Given the description of an element on the screen output the (x, y) to click on. 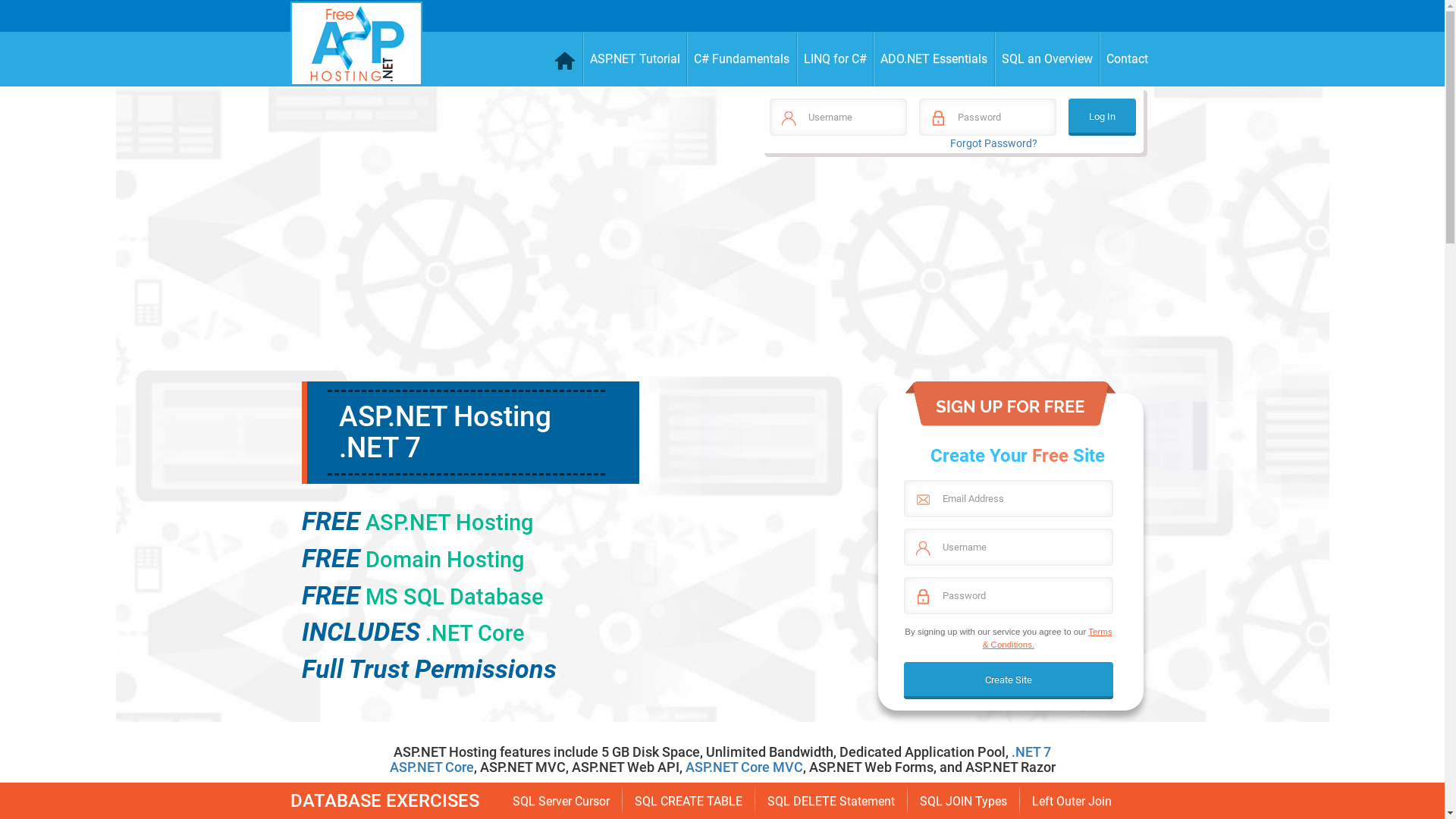
ASP.NET Tutorial Element type: text (634, 58)
SQL an Overview Element type: text (1047, 58)
Advertisement Element type: hover (950, 274)
Terms & Conditions. Element type: text (1047, 637)
ASP.NET Core Element type: text (431, 767)
Forgot Password? Element type: text (993, 143)
Contact Element type: text (1126, 58)
.NET 7 Element type: text (1031, 751)
Check User Element type: text (30, 18)
ADO.NET Essentials Element type: text (933, 58)
Log In Element type: text (1101, 116)
ASP.NET Core MVC Element type: text (744, 767)
Create Site Element type: text (1008, 680)
LINQ for C# Element type: text (834, 58)
ASP.NET Hosting .NET 7 Element type: text (444, 432)
C# Fundamentals Element type: text (742, 58)
